Given the description of an element on the screen output the (x, y) to click on. 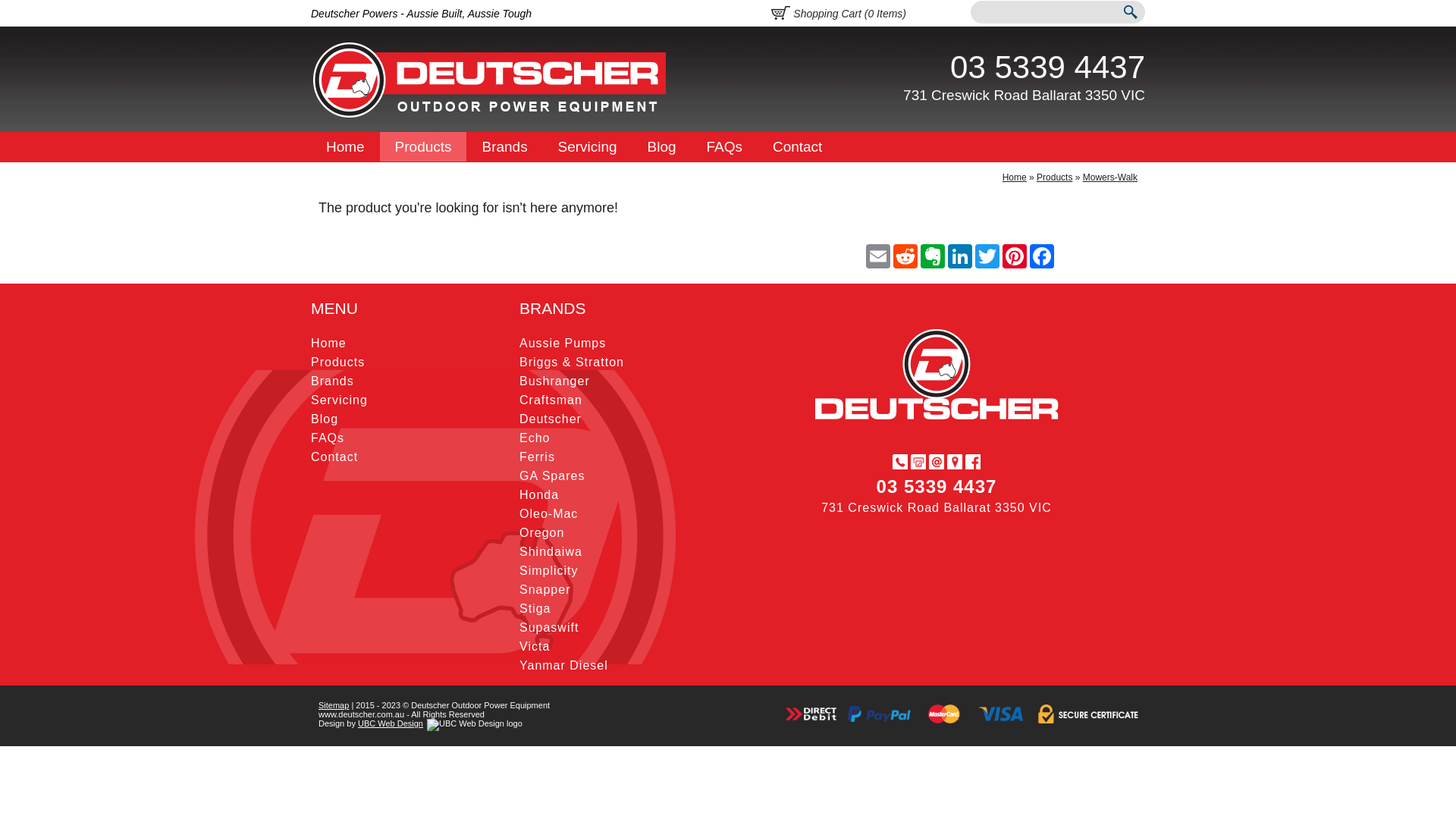
Products Element type: text (1054, 177)
Brands Element type: text (504, 146)
Briggs & Stratton Element type: text (571, 361)
UBC Web Design Element type: text (390, 723)
Evernote Element type: text (932, 256)
Shopping Cart Element type: hover (780, 10)
Twitter Element type: text (987, 256)
Contact Element type: text (333, 456)
Supaswift Element type: text (548, 627)
Pinterest Element type: text (1014, 256)
FAQs Element type: text (327, 437)
Yanmar Diesel Element type: text (563, 664)
Echo Element type: text (534, 437)
GA Spares Element type: text (551, 475)
Brands Element type: text (332, 380)
Oregon Element type: text (541, 532)
Home Element type: text (1014, 177)
FAQs Element type: text (724, 146)
0 Element type: text (870, 13)
Ferris Element type: text (537, 456)
Home Element type: text (328, 342)
Snapper Element type: text (545, 589)
Victa Element type: text (534, 646)
LinkedIn Element type: text (959, 256)
Servicing Element type: text (338, 399)
Shindaiwa Element type: text (550, 551)
Mowers-Walk Element type: text (1109, 177)
03 5339 4437 Element type: text (936, 486)
Deutscher Outdoor Power Equipment Element type: hover (489, 80)
Products Element type: text (337, 361)
Honda Element type: text (538, 494)
Sitemap Element type: text (333, 704)
Oleo-Mac Element type: text (548, 513)
03 5339 4437 Element type: text (1047, 66)
Deutscher Element type: text (550, 418)
Stiga Element type: text (534, 608)
731 Creswick Road Ballarat 3350 VIC Element type: text (1024, 95)
Servicing Element type: text (587, 146)
731 Creswick Road Ballarat 3350 VIC Element type: text (936, 507)
Simplicity Element type: text (548, 570)
Email Element type: text (877, 256)
Home Element type: text (344, 146)
Products Element type: text (423, 146)
Facebook Element type: text (1041, 256)
Aussie Pumps Element type: text (562, 342)
Reddit Element type: text (905, 256)
Blog Element type: text (324, 418)
Search Element type: text (1129, 13)
Craftsman Element type: text (550, 399)
Bushranger Element type: text (554, 380)
Blog Element type: text (661, 146)
Contact Element type: text (797, 146)
